Given the description of an element on the screen output the (x, y) to click on. 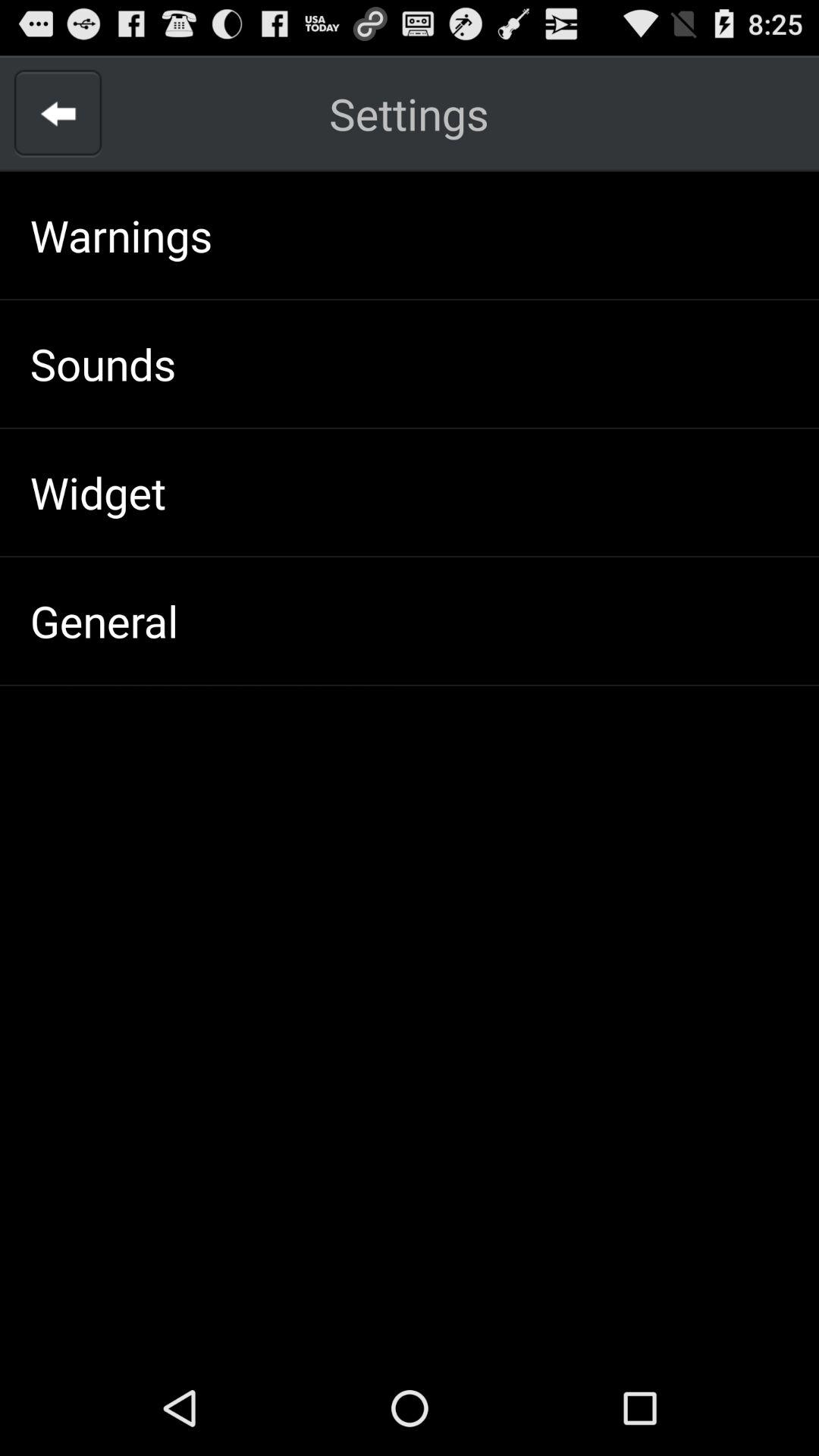
flip to warnings icon (121, 234)
